Given the description of an element on the screen output the (x, y) to click on. 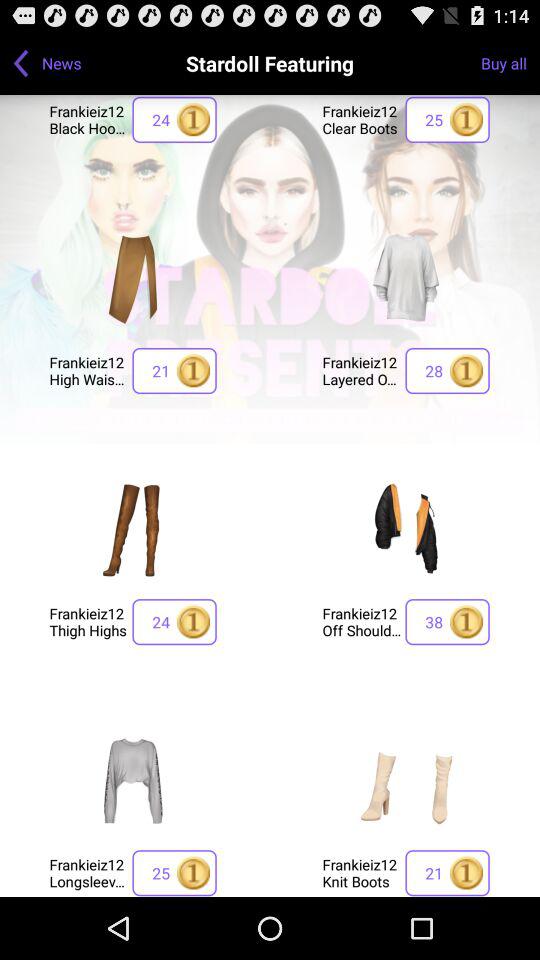
choose the button to the left of 25 item (88, 872)
